Given the description of an element on the screen output the (x, y) to click on. 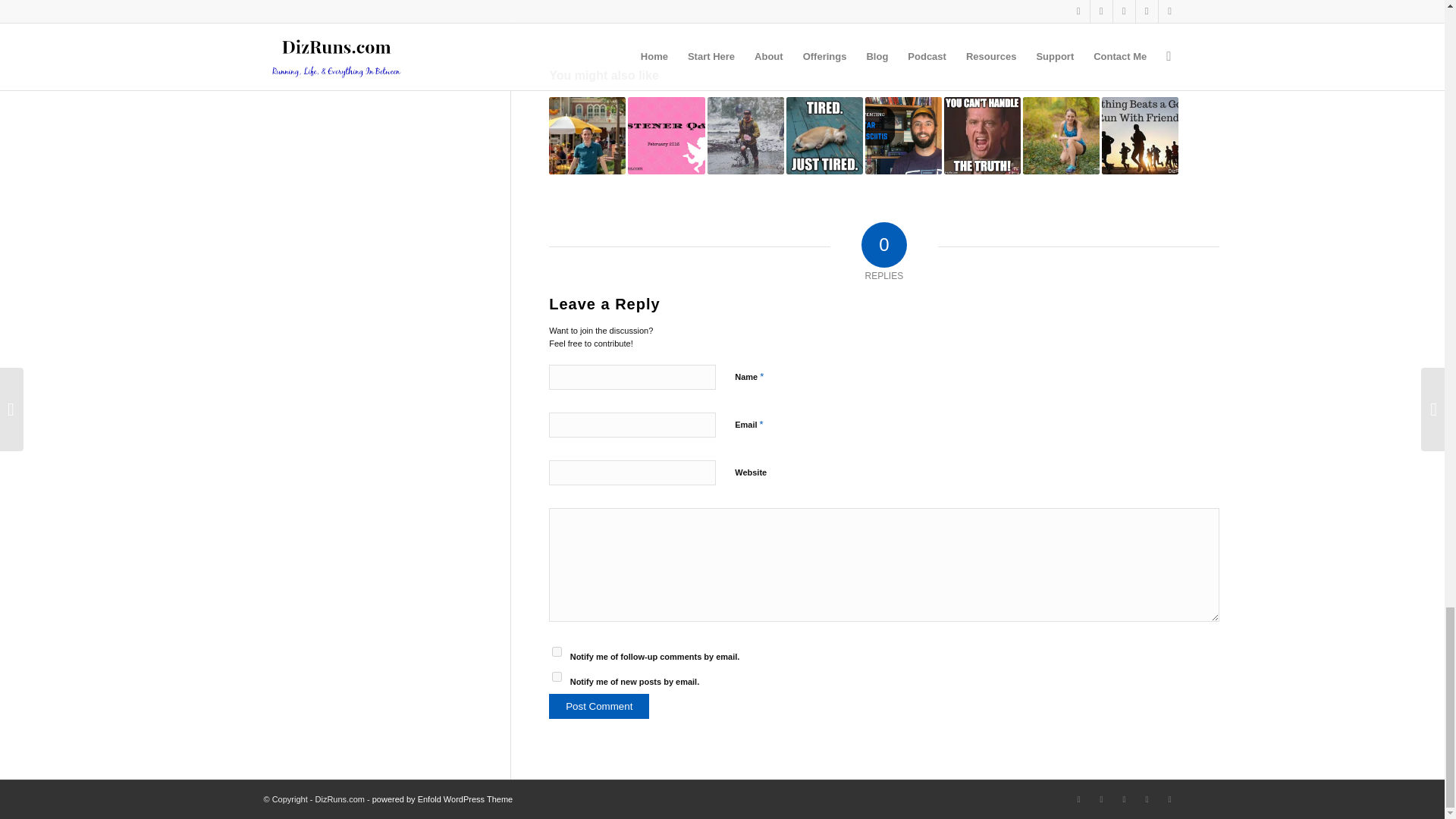
subscribe (556, 651)
subscribe (556, 676)
Post Comment (598, 706)
